Given the description of an element on the screen output the (x, y) to click on. 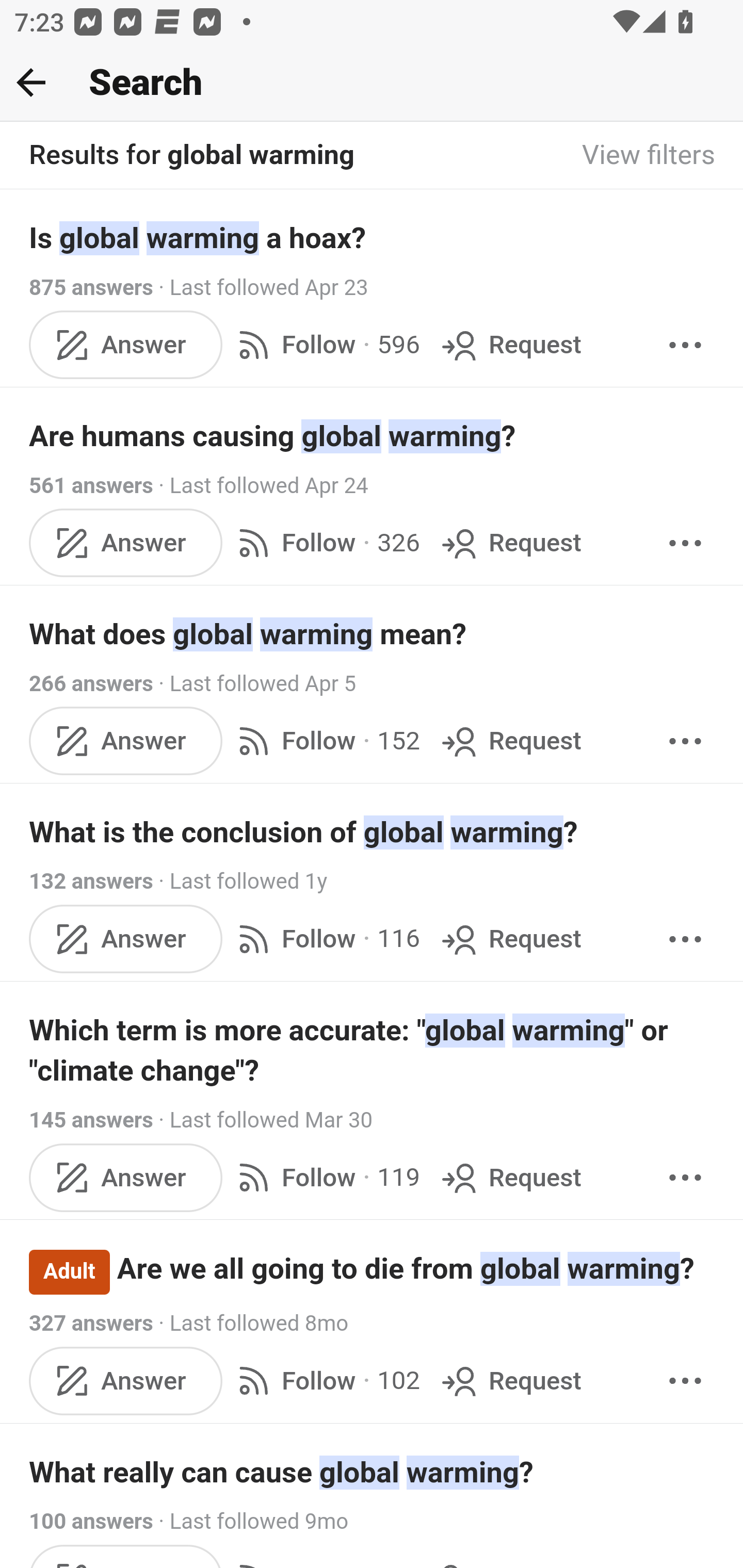
Back Search (371, 82)
Back (30, 82)
View filters (648, 155)
Is global warming a hoax? (372, 237)
875 answers 875  answers (90, 287)
Answer (125, 343)
Follow · 596 (324, 343)
Request (509, 343)
More (684, 343)
Are humans causing global warming? (372, 436)
561 answers 561  answers (90, 484)
Answer (125, 543)
Follow · 326 (324, 543)
Request (509, 543)
More (684, 543)
What does global warming mean? (372, 634)
266 answers 266  answers (90, 684)
Answer (125, 741)
Follow · 152 (324, 741)
Request (509, 741)
More (684, 741)
What is the conclusion of global warming? (372, 832)
132 answers 132  answers (90, 881)
Answer (125, 939)
Follow · 116 (324, 939)
Request (509, 939)
More (684, 939)
145 answers 145  answers (90, 1120)
Answer (125, 1176)
Follow · 119 (324, 1176)
Request (509, 1176)
More (684, 1176)
Adult Are we all going to die from global warming? (372, 1271)
327 answers 327  answers (90, 1324)
Answer (125, 1380)
Follow · 102 (324, 1380)
Request (509, 1380)
More (684, 1380)
What really can cause global warming? (372, 1472)
100 answers 100  answers (90, 1521)
